Given the description of an element on the screen output the (x, y) to click on. 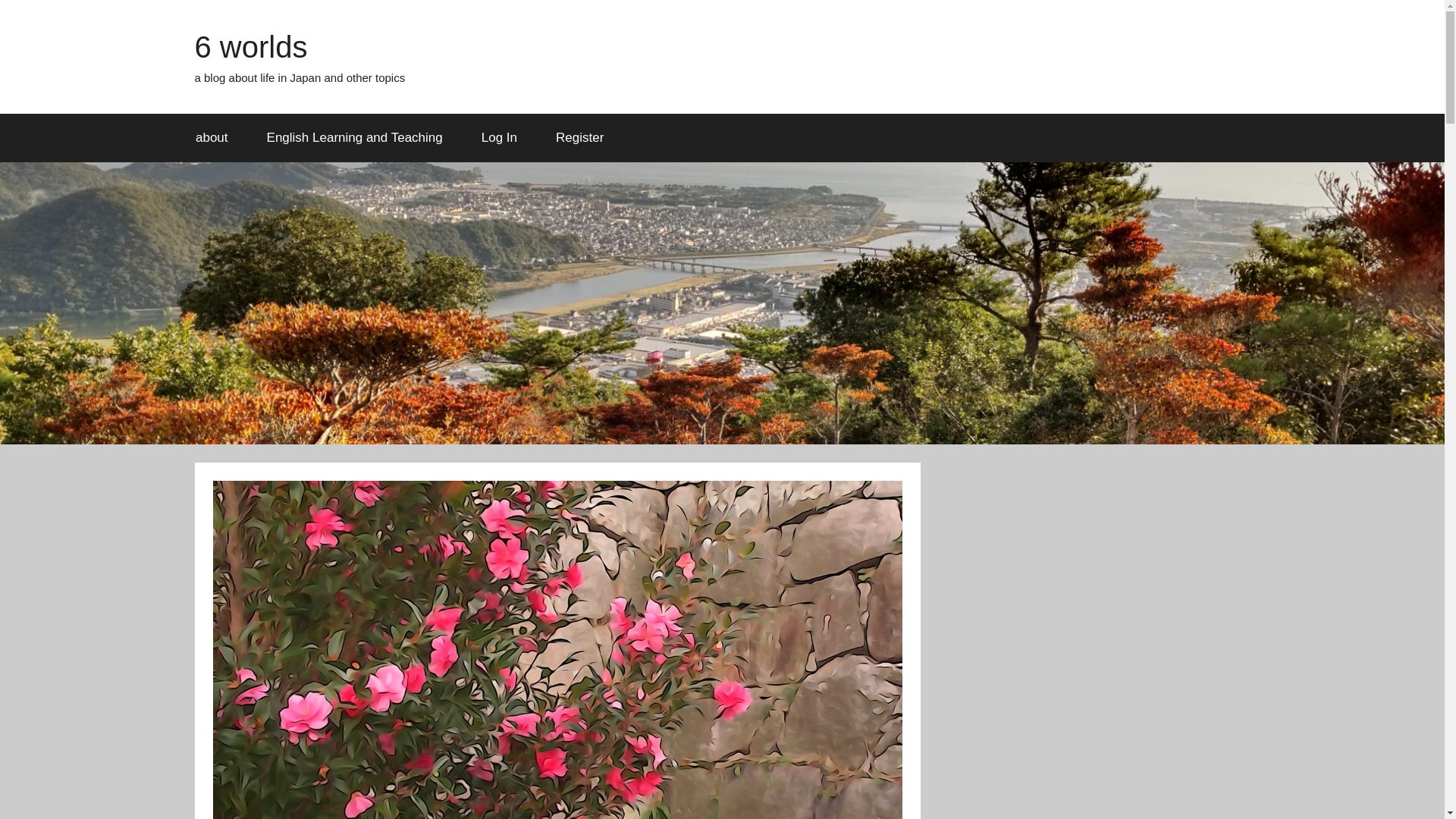
Log In (498, 137)
Register (580, 137)
6 worlds (250, 46)
about (211, 137)
English Learning and Teaching (354, 137)
